Given the description of an element on the screen output the (x, y) to click on. 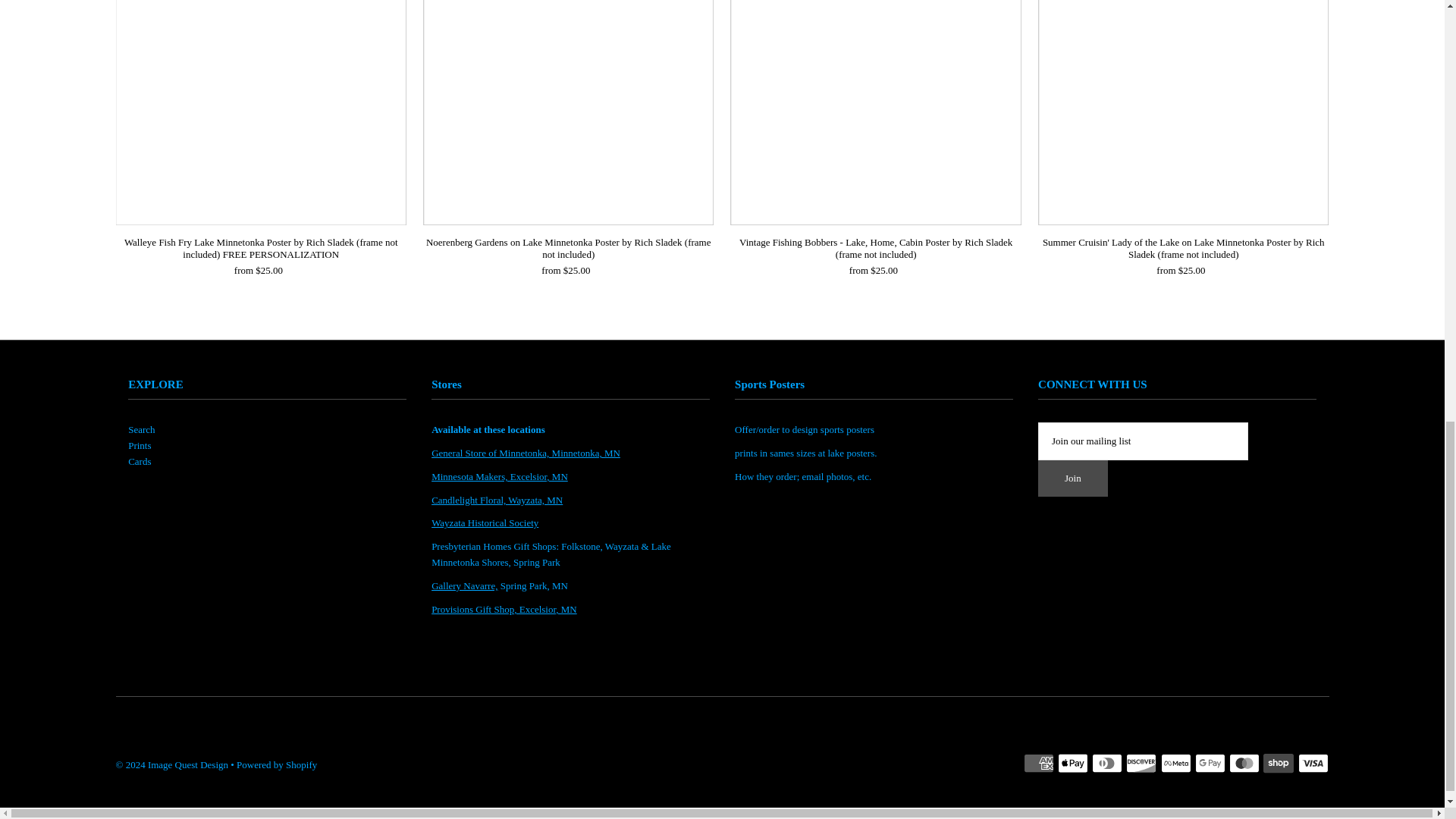
Apple Pay (1072, 763)
Meta Pay (1175, 763)
Visa (1312, 763)
Diners Club (1107, 763)
American Express (1038, 763)
Discover (1140, 763)
Google Pay (1210, 763)
Mastercard (1243, 763)
wayzata historical society (484, 522)
Join (1073, 478)
Shop Pay (1278, 763)
